Given the description of an element on the screen output the (x, y) to click on. 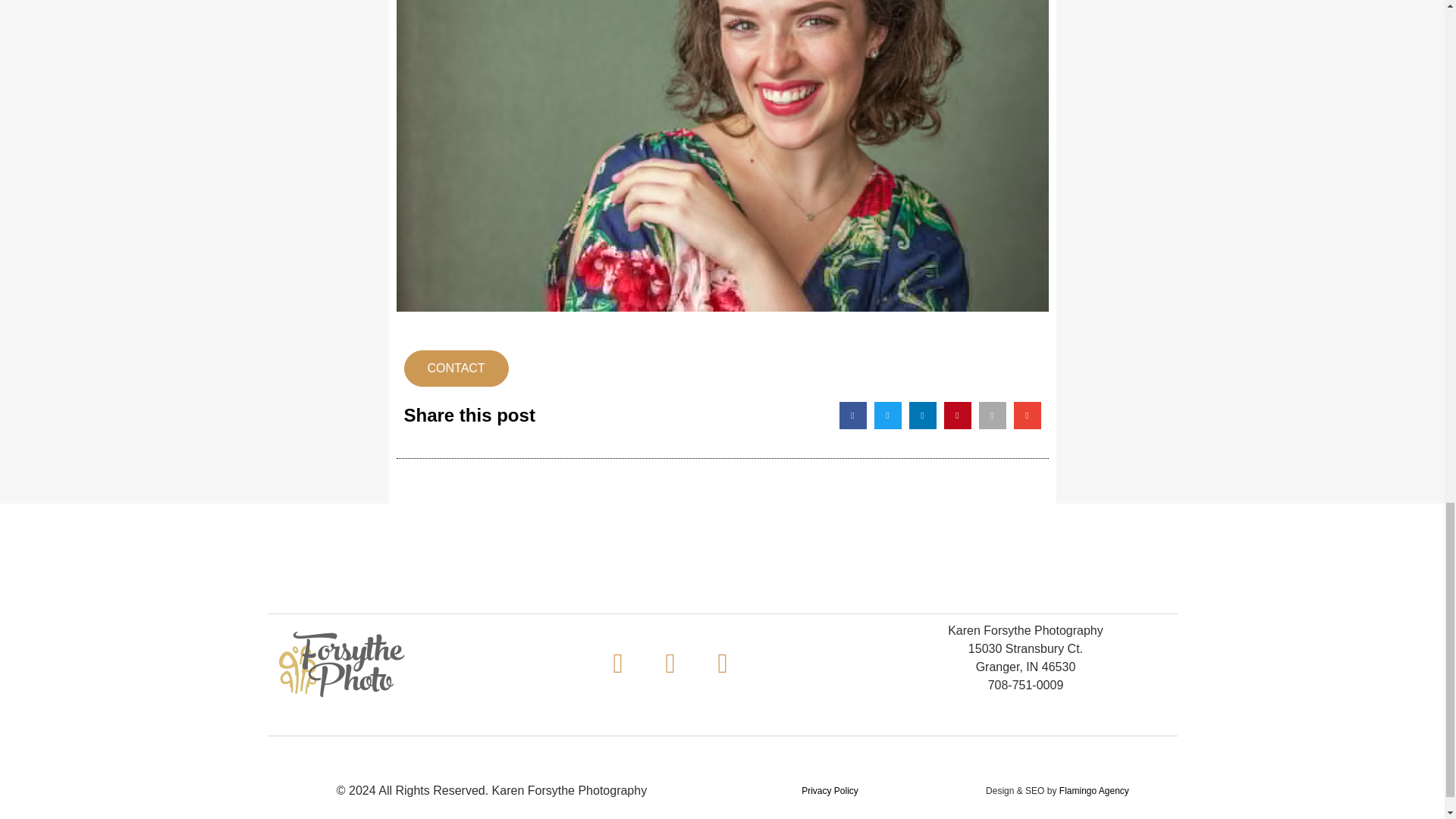
CONTACT (455, 367)
Flamingo Agency (1094, 790)
Privacy Policy (830, 790)
